Given the description of an element on the screen output the (x, y) to click on. 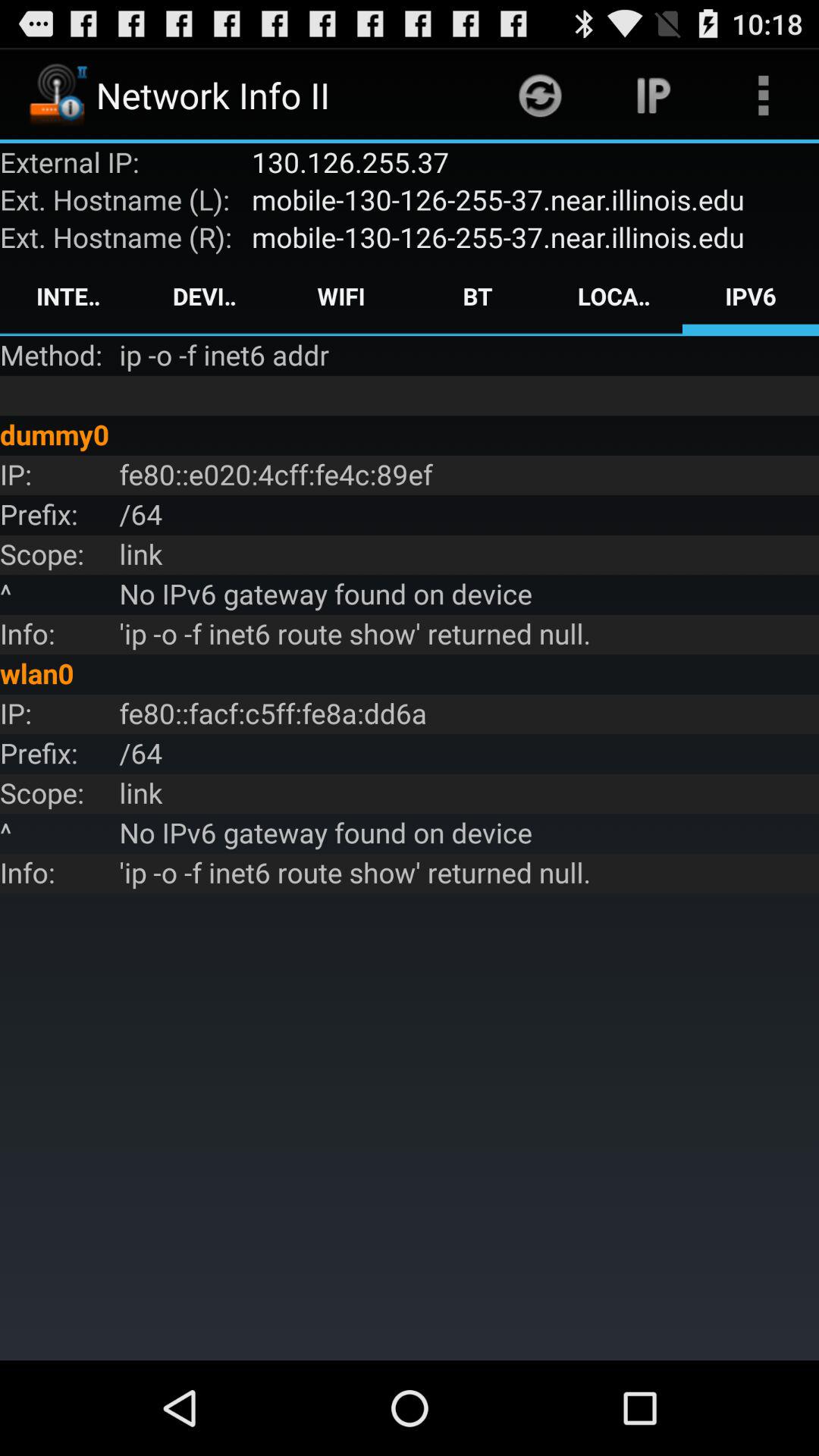
open icon below the ext. hostname (r): item (68, 295)
